Given the description of an element on the screen output the (x, y) to click on. 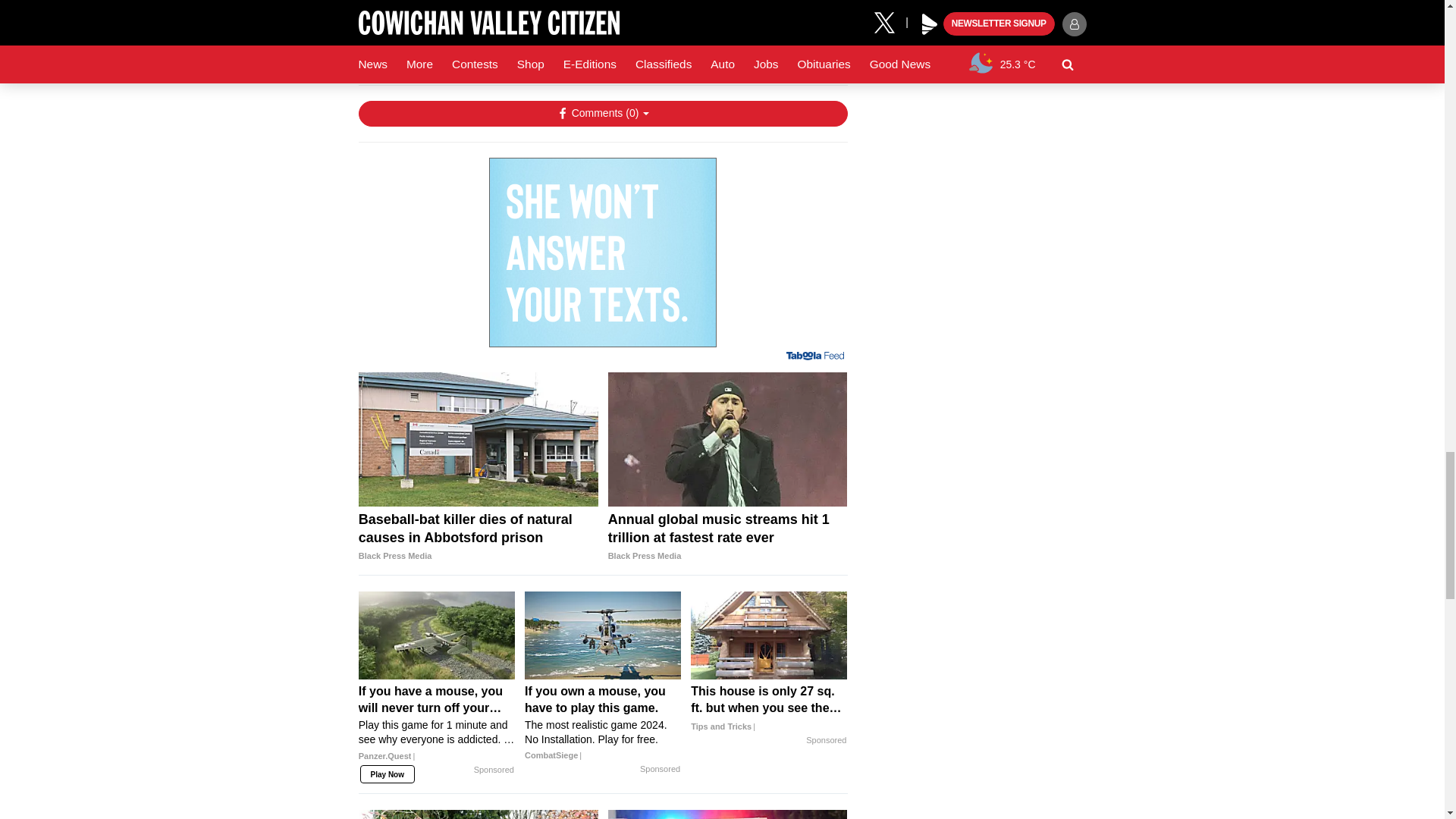
3rd party ad content (602, 252)
Show Comments (602, 113)
